Given the description of an element on the screen output the (x, y) to click on. 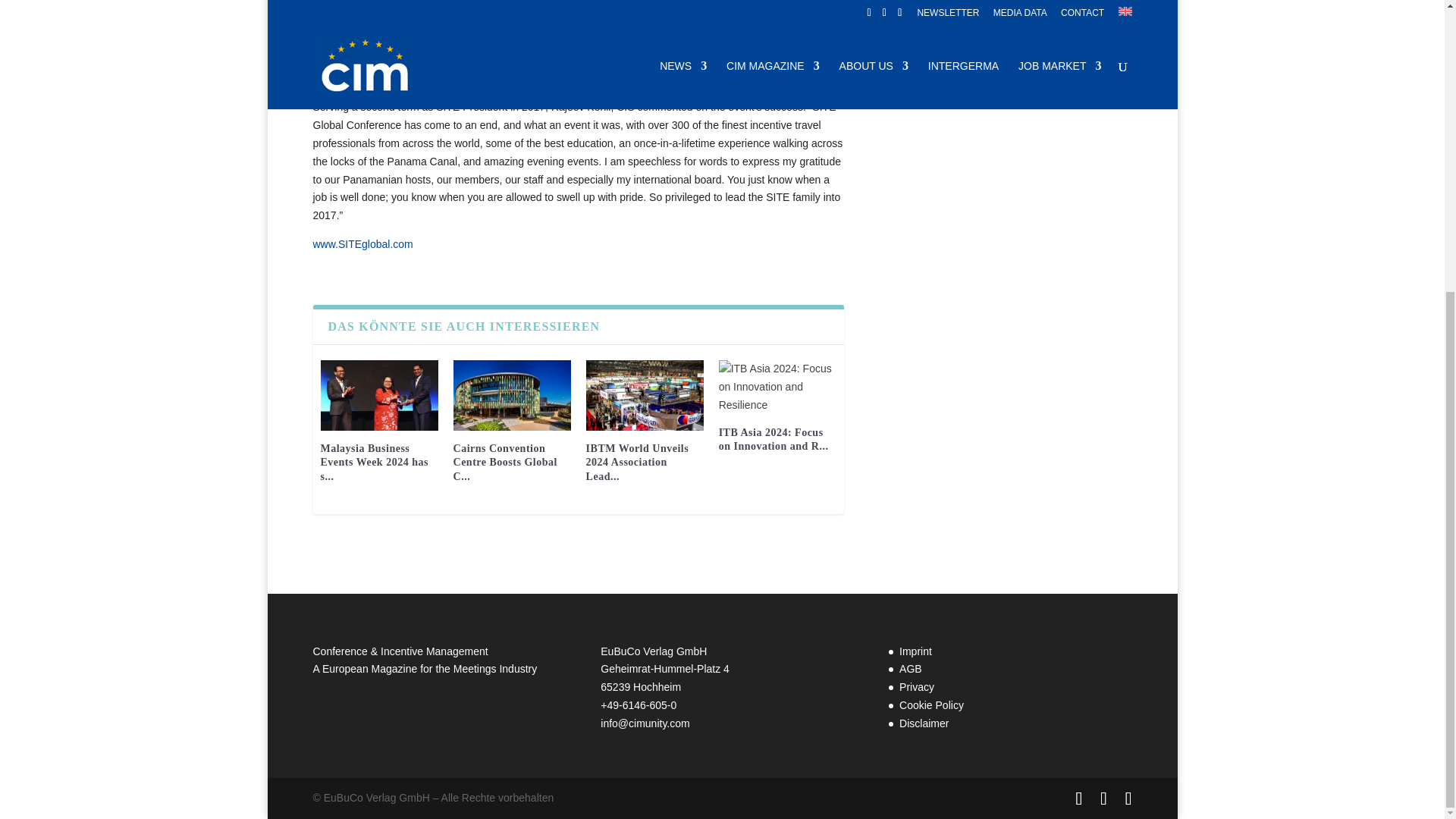
Malaysia Business Events Week 2024 has s... (374, 462)
IBTM World Unveils 2024 Association Lead... (637, 462)
ITB Asia 2024: Focus on Innovation and Resilience (777, 387)
www.SITEglobal.com (362, 244)
Cairns Convention Centre Boosts Global C... (504, 462)
Illuminates (362, 244)
Malaysia Business Events Week 2024 has started (379, 395)
